Given the description of an element on the screen output the (x, y) to click on. 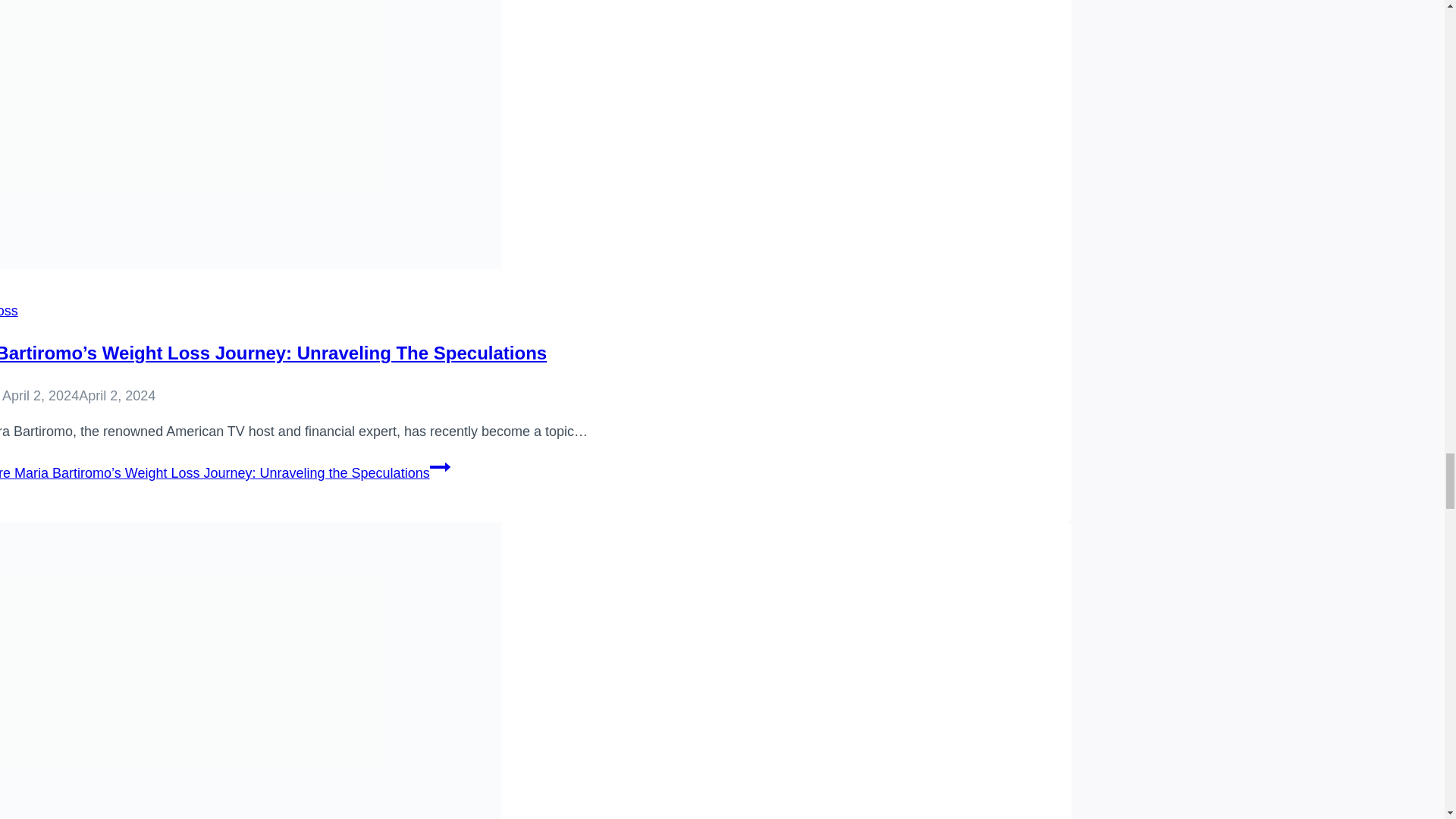
Weight Loss (8, 310)
